Given the description of an element on the screen output the (x, y) to click on. 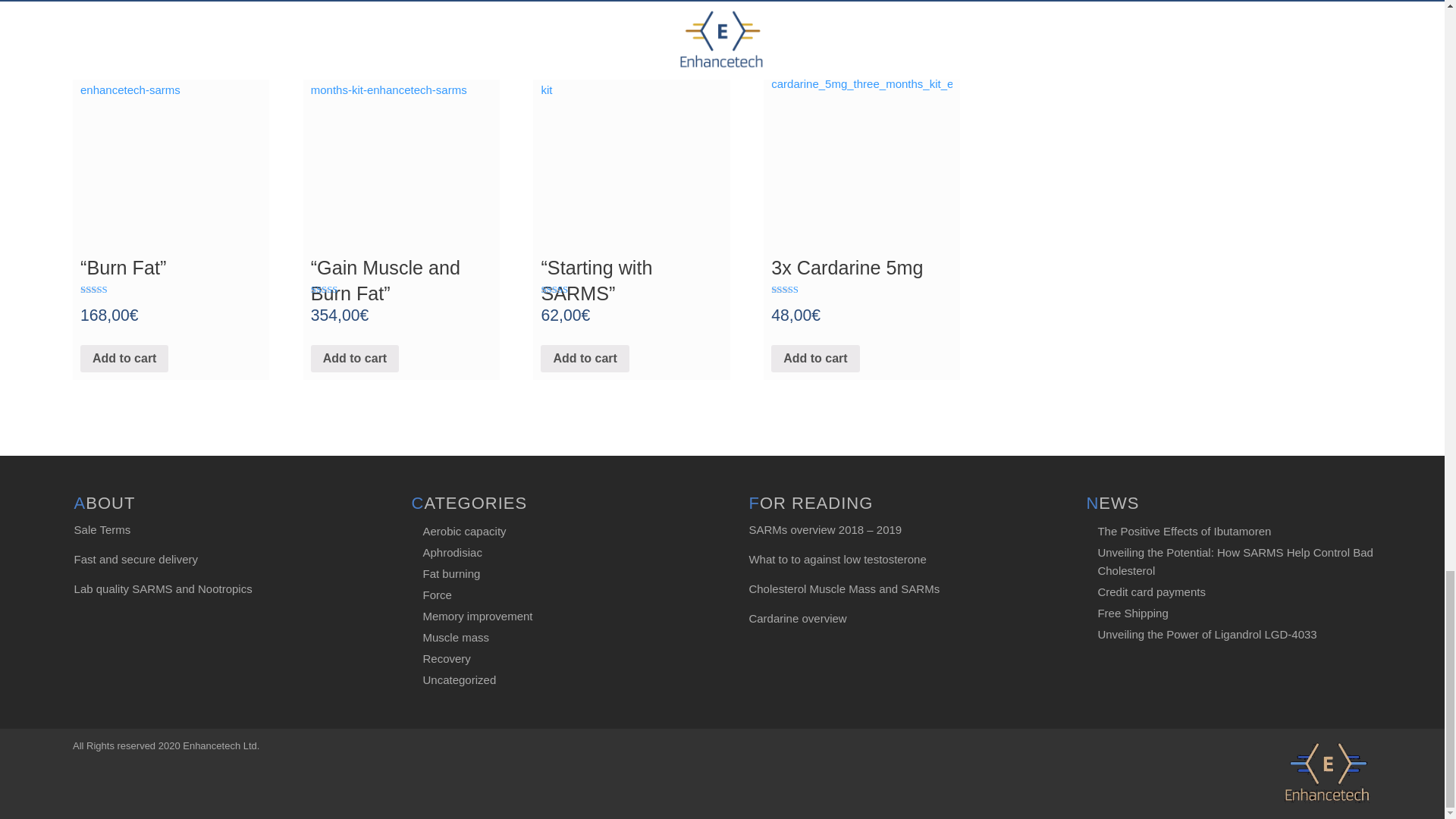
Aerobic capacity (464, 530)
Add to cart (354, 358)
Add to cart (584, 358)
Lab quality SARMS and Nootropics (162, 588)
Add to cart (124, 358)
Sale Terms (102, 529)
Fast and secure delivery (136, 558)
Add to cart (815, 358)
